Given the description of an element on the screen output the (x, y) to click on. 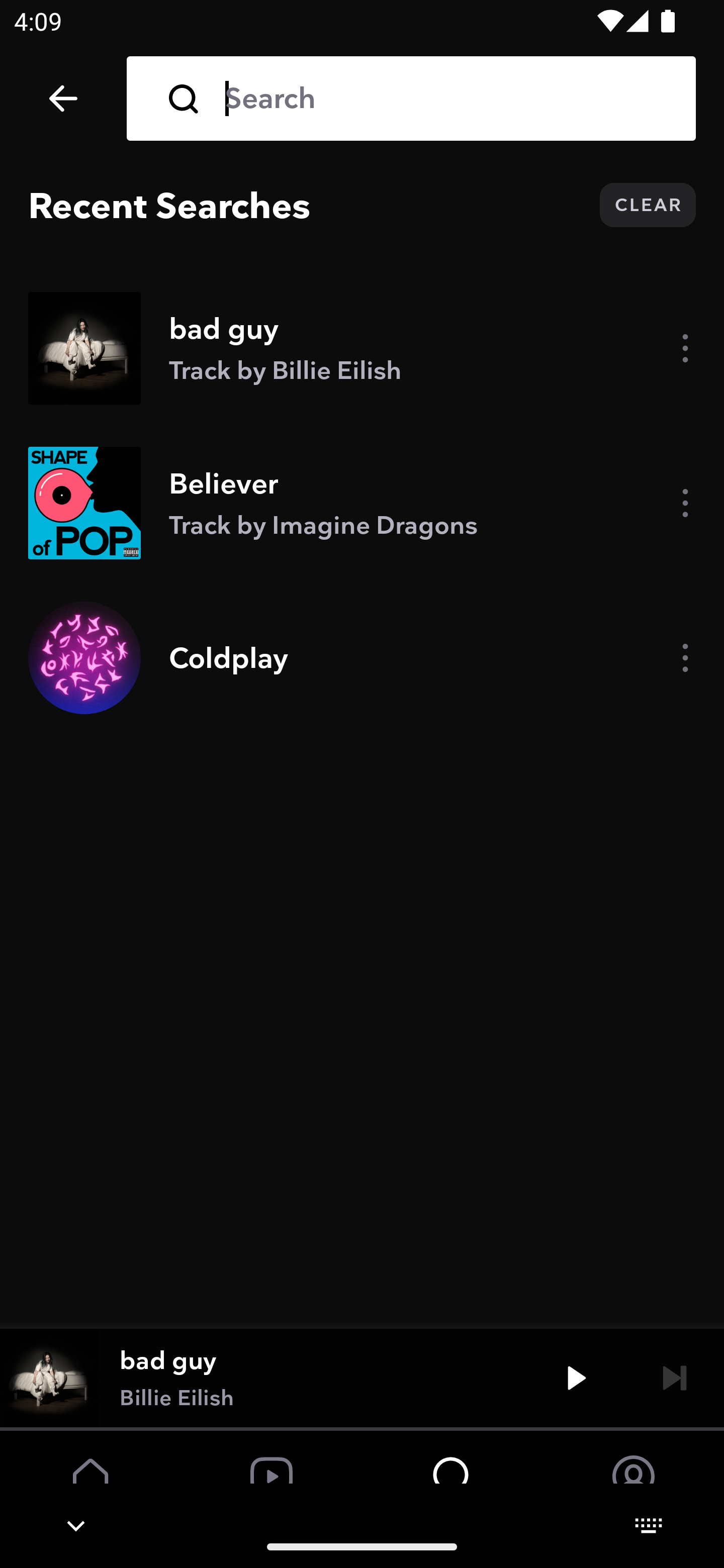
Search (446, 98)
CLEAR (647, 205)
bad guy Track by Billie Eilish (362, 347)
Believer Track by Imagine Dragons (362, 502)
Coldplay (362, 657)
bad guy Billie Eilish Play (362, 1377)
Play (576, 1377)
